Given the description of an element on the screen output the (x, y) to click on. 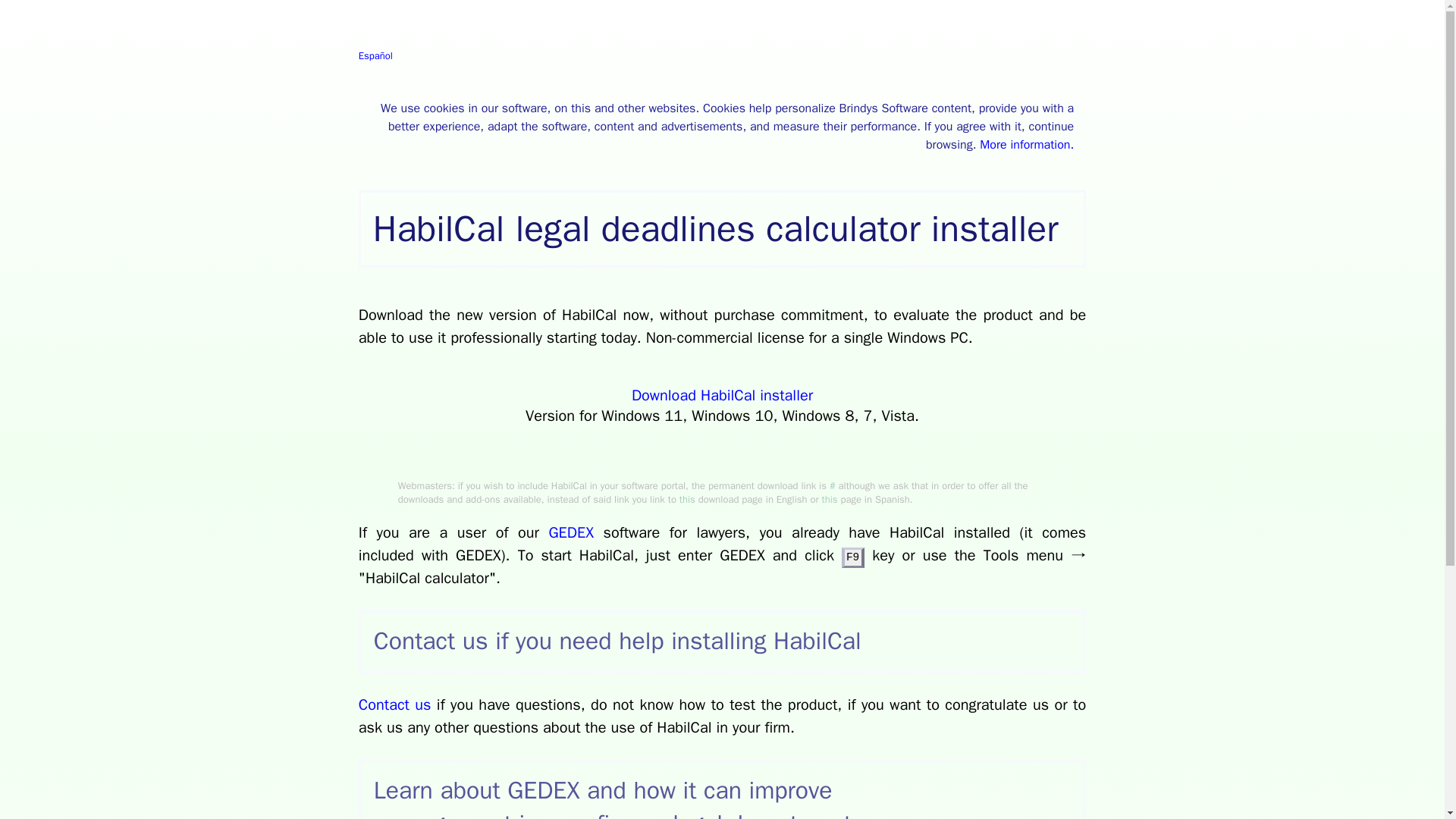
GEDEX (571, 532)
Contact us (394, 704)
this (687, 499)
